Given the description of an element on the screen output the (x, y) to click on. 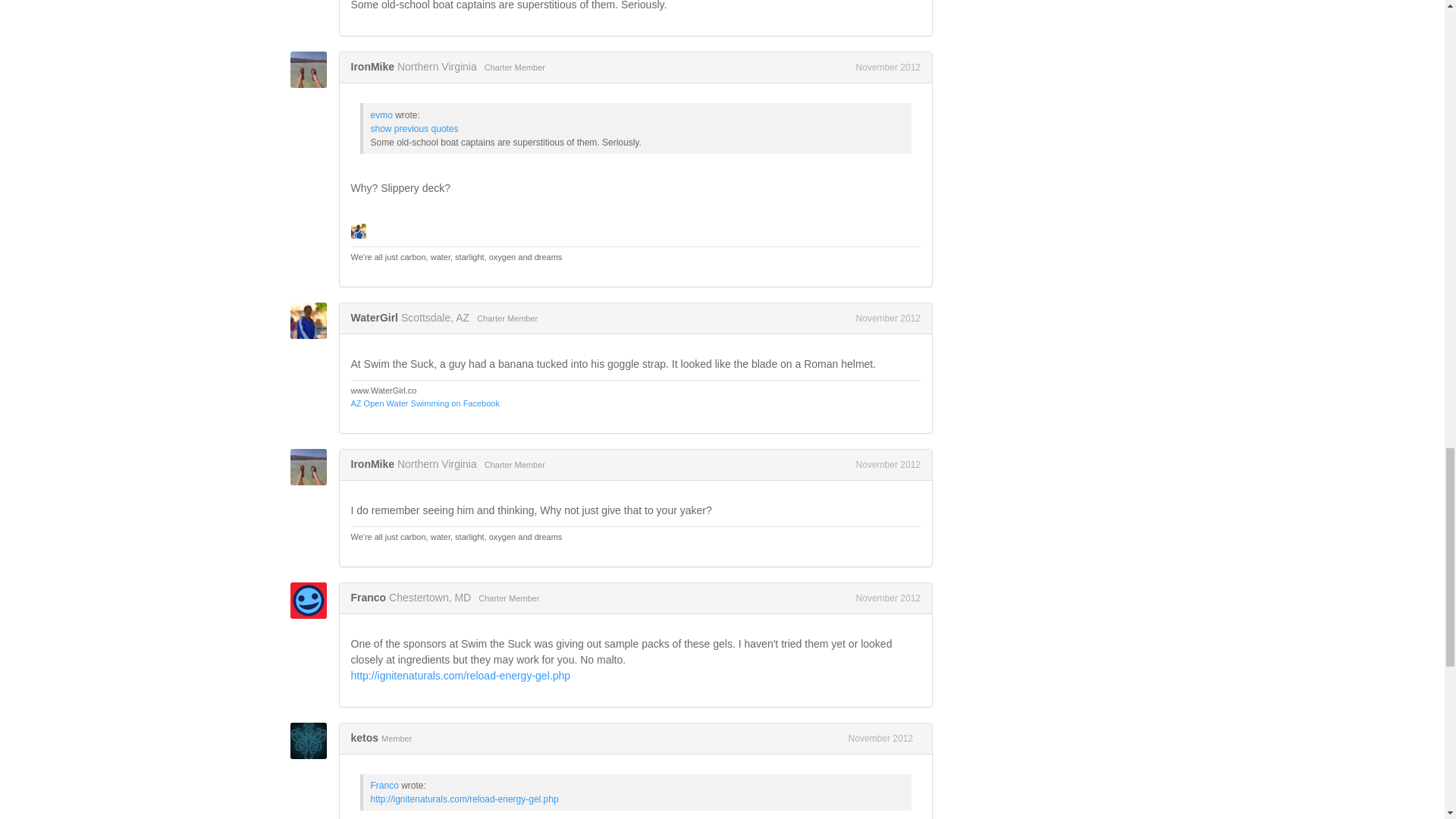
evmo (380, 114)
November  3, 2012  2:14AM (888, 67)
November 2012 (888, 317)
WaterGirl - Like on November 3, 2012. (357, 231)
show previous quotes (413, 128)
IronMike (372, 66)
WaterGirl (373, 317)
IronMike (311, 69)
November 2012 (888, 67)
